Given the description of an element on the screen output the (x, y) to click on. 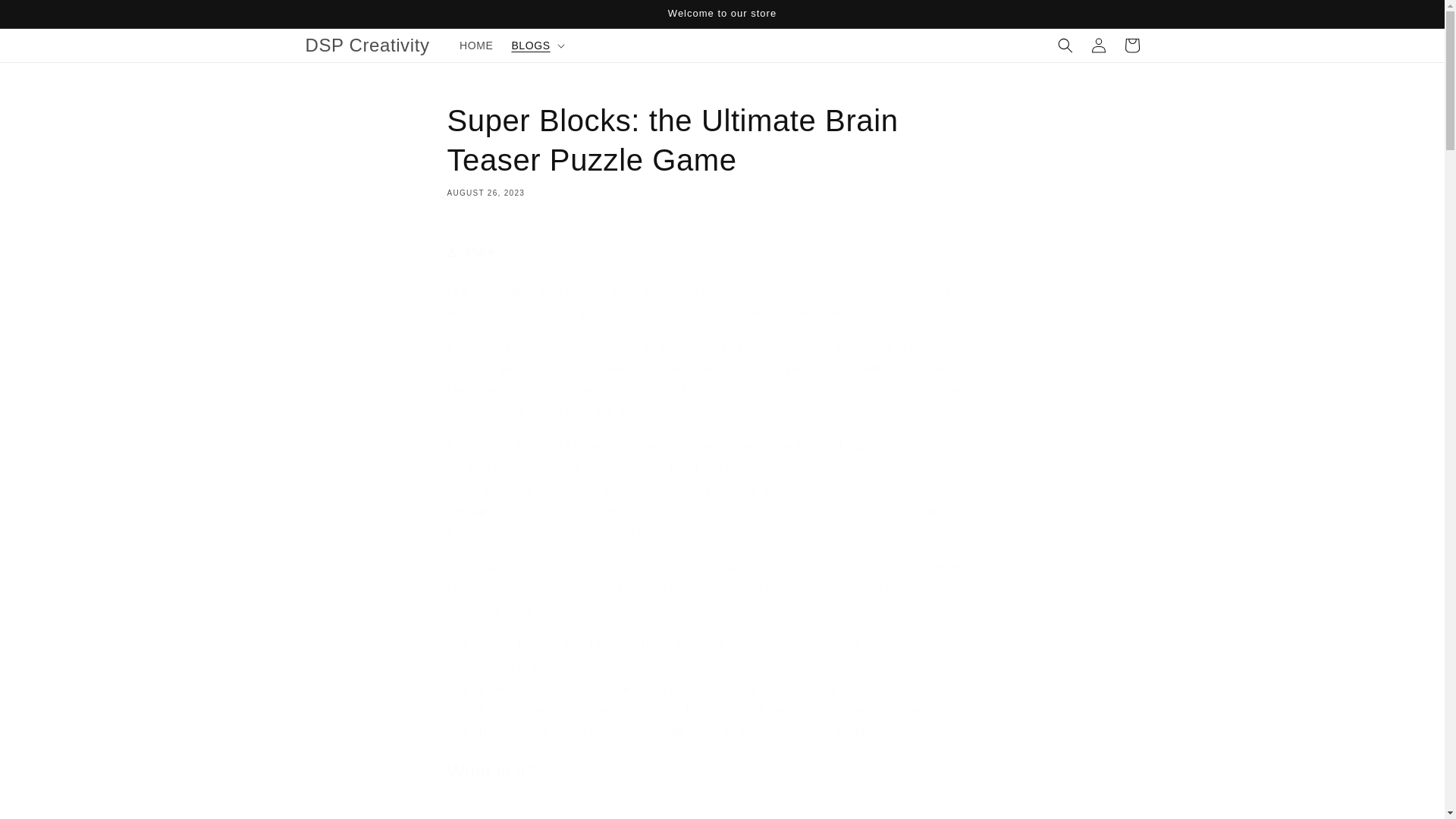
DSP Creativity (367, 44)
young minds (615, 312)
Log in (1098, 45)
YouTube video player (659, 808)
Skip to content (45, 17)
Share (721, 252)
young minds (615, 312)
fun activity (936, 567)
fun activity (936, 567)
